Given the description of an element on the screen output the (x, y) to click on. 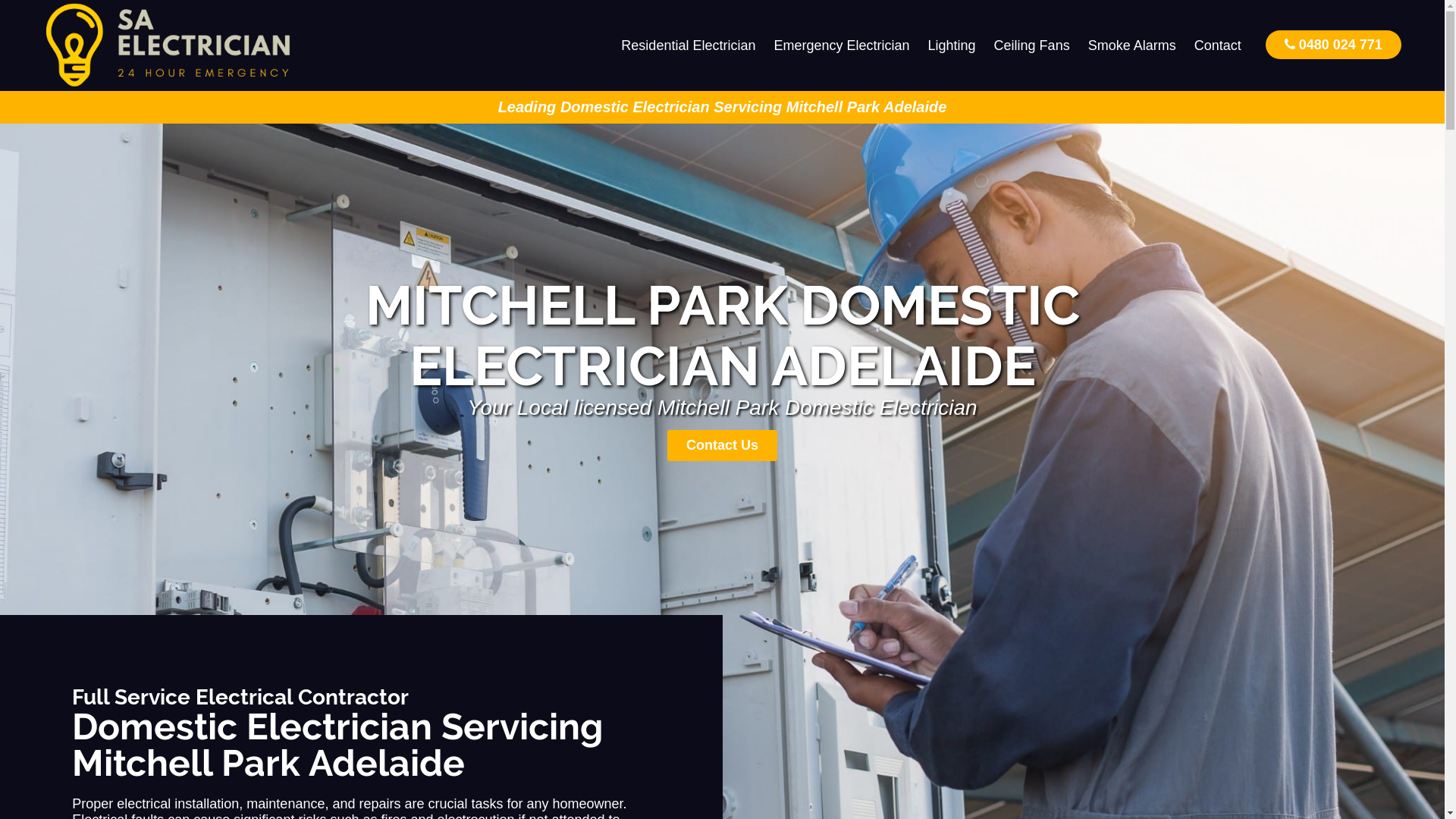
Lighting Element type: text (952, 45)
Smoke Alarms Element type: text (1132, 45)
Contact Us Element type: text (722, 445)
Residential Electrician Element type: text (687, 45)
Contact Element type: text (1217, 45)
Emergency Electrician Element type: text (841, 45)
Ceiling Fans Element type: text (1032, 45)
0480 024 771 Element type: text (1333, 44)
